Given the description of an element on the screen output the (x, y) to click on. 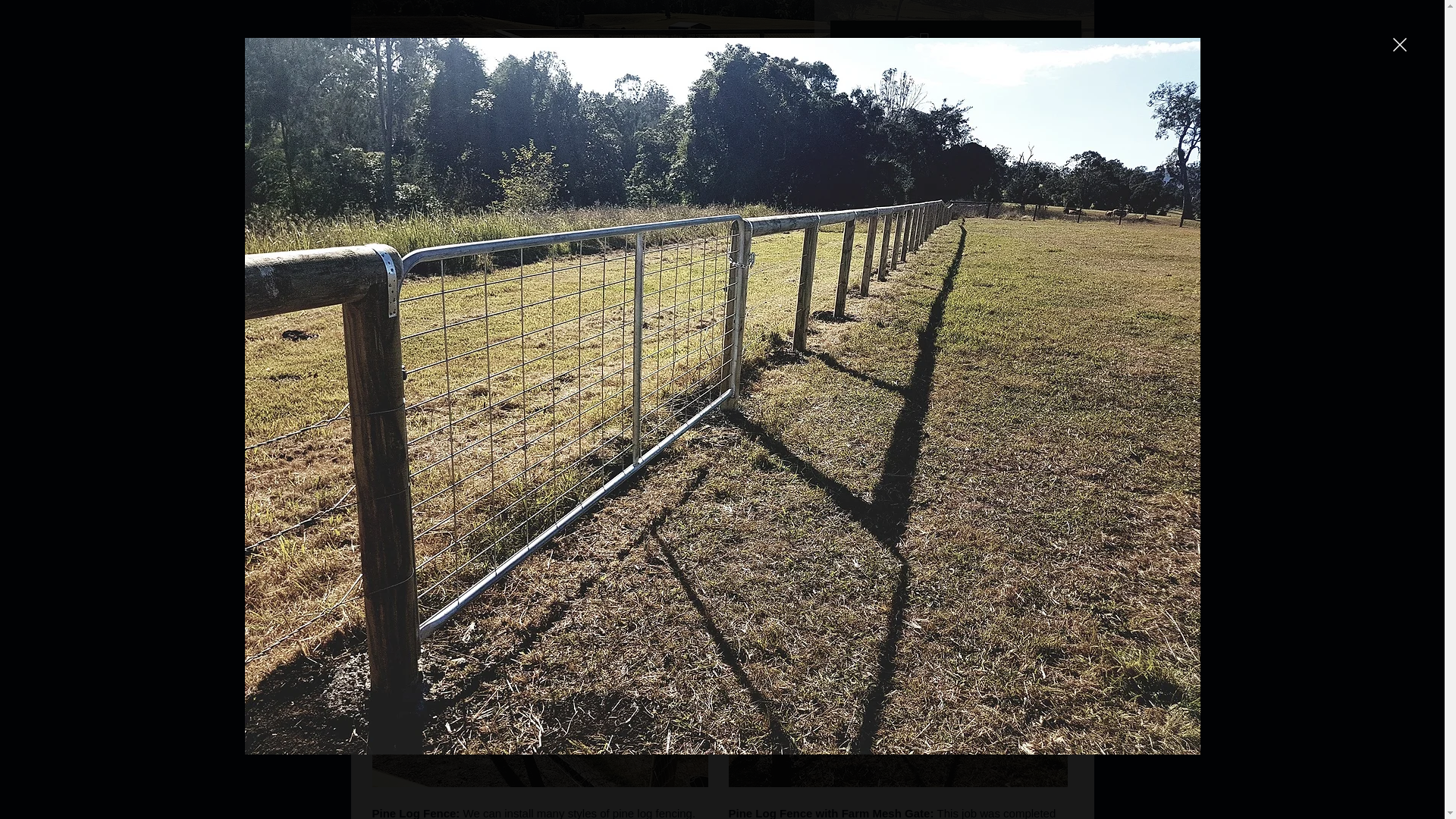
5540 3905 Element type: text (998, 200)
DRY HIRE SERVICE Element type: text (847, 252)
GALLERY Element type: text (954, 252)
TIMBER FENCING Element type: text (593, 252)
RURAL FENCING Element type: text (472, 252)
CONTACT US Element type: text (1044, 252)
RETAINING WALLS Element type: text (718, 252)
07 5540 3905 Element type: text (983, 391)
HOME Element type: text (381, 252)
BOOK A QUOTE Element type: text (954, 159)
